Given the description of an element on the screen output the (x, y) to click on. 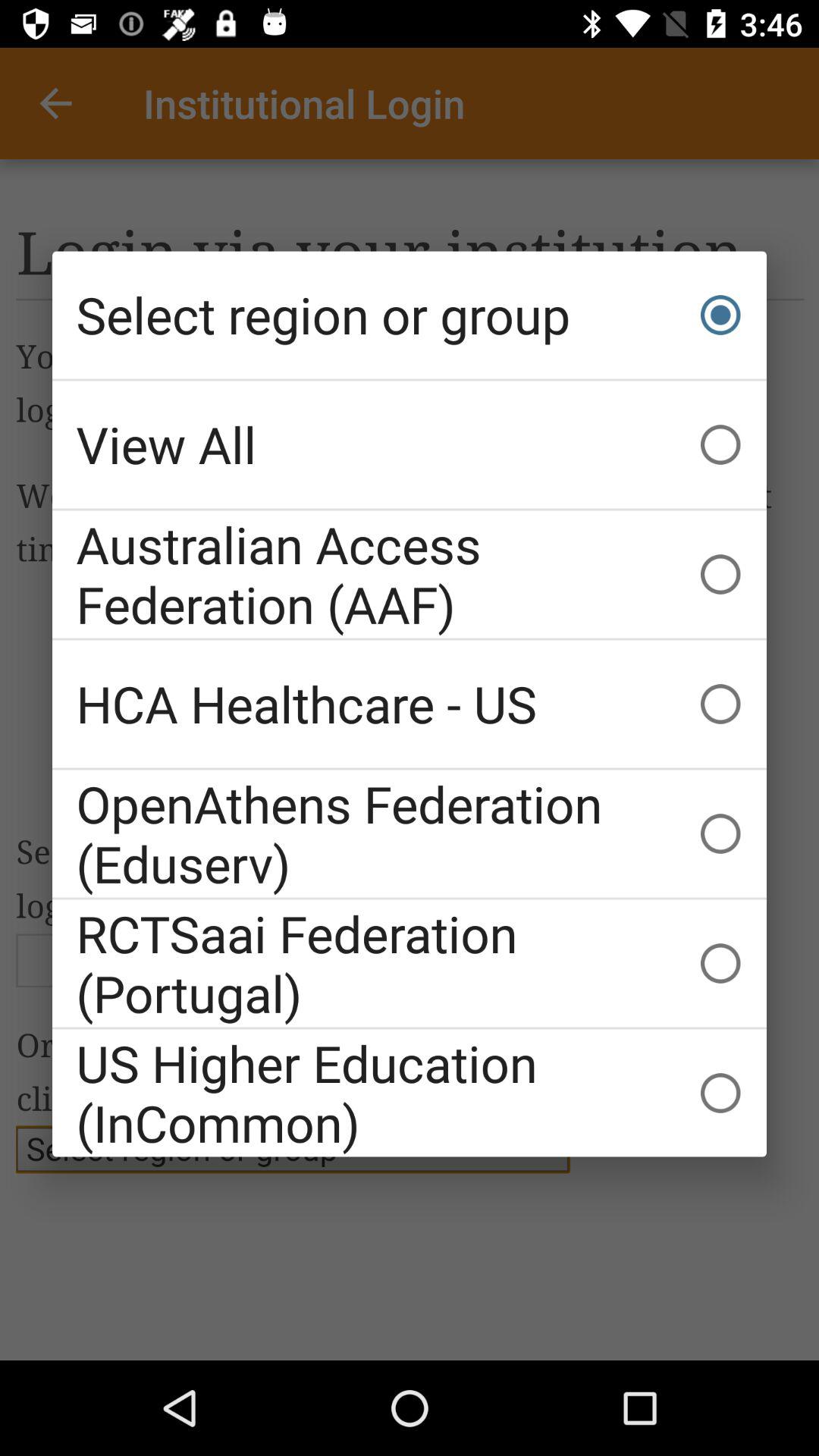
turn on the icon at the bottom (409, 1092)
